Given the description of an element on the screen output the (x, y) to click on. 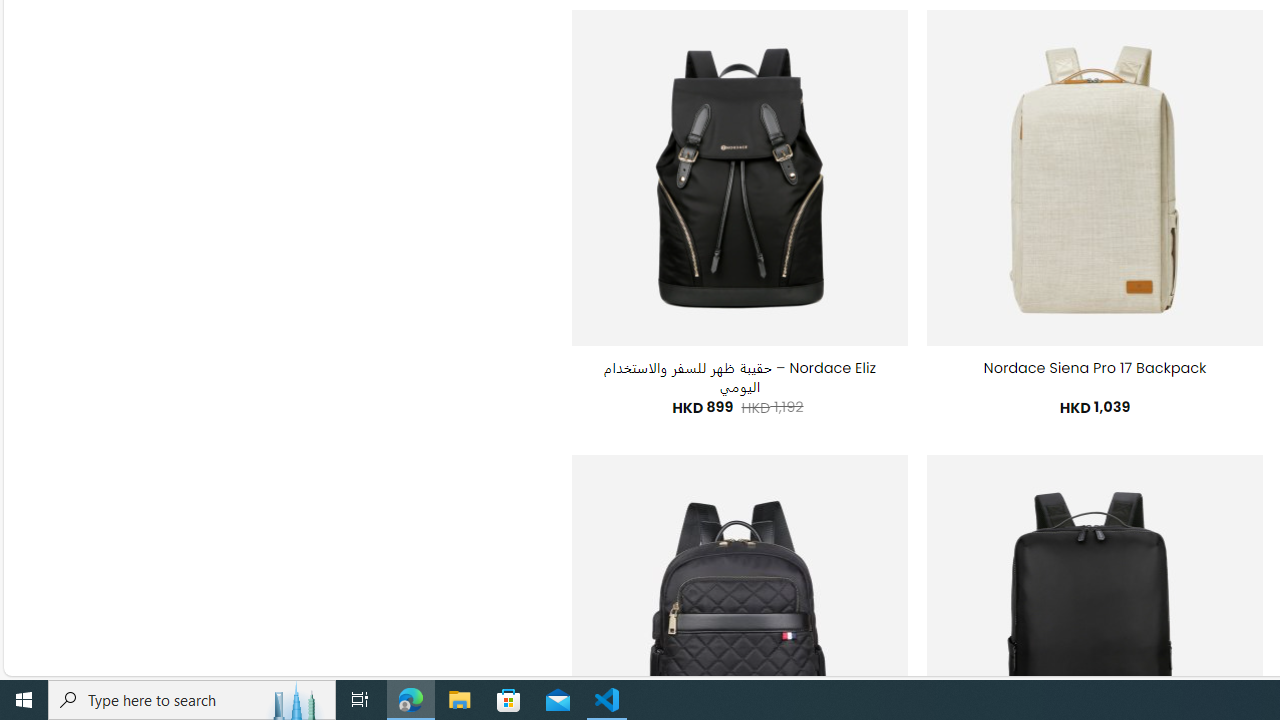
Nordace Siena Pro 17 Backpack (1095, 368)
